Given the description of an element on the screen output the (x, y) to click on. 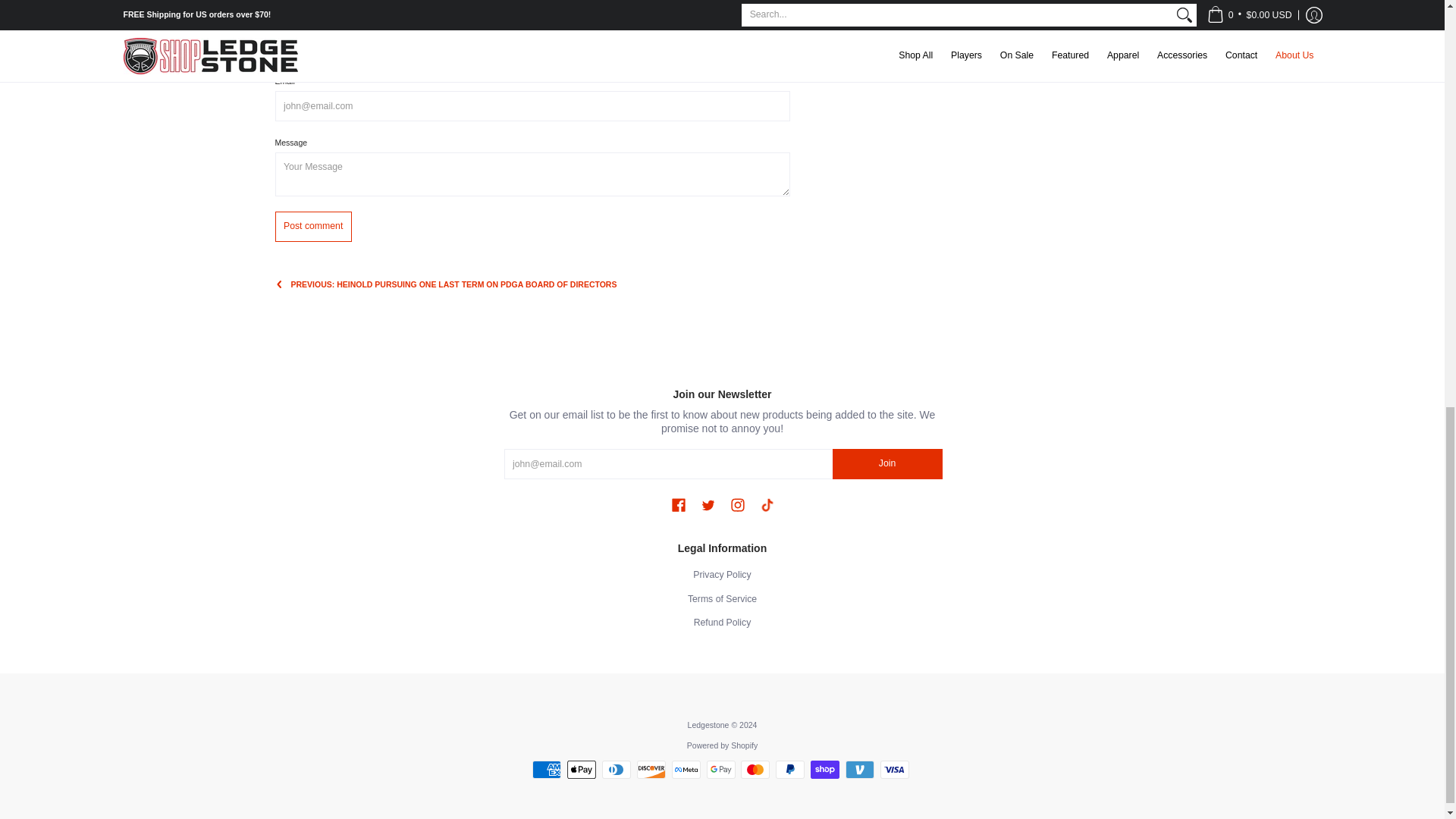
American Express (546, 769)
Google Pay (720, 769)
Apple Pay (581, 769)
Venmo (860, 769)
PayPal (790, 769)
Post comment (312, 225)
Mastercard (755, 769)
Discover (651, 769)
Shop Pay (825, 769)
Diners Club (616, 769)
Meta Pay (685, 769)
